Given the description of an element on the screen output the (x, y) to click on. 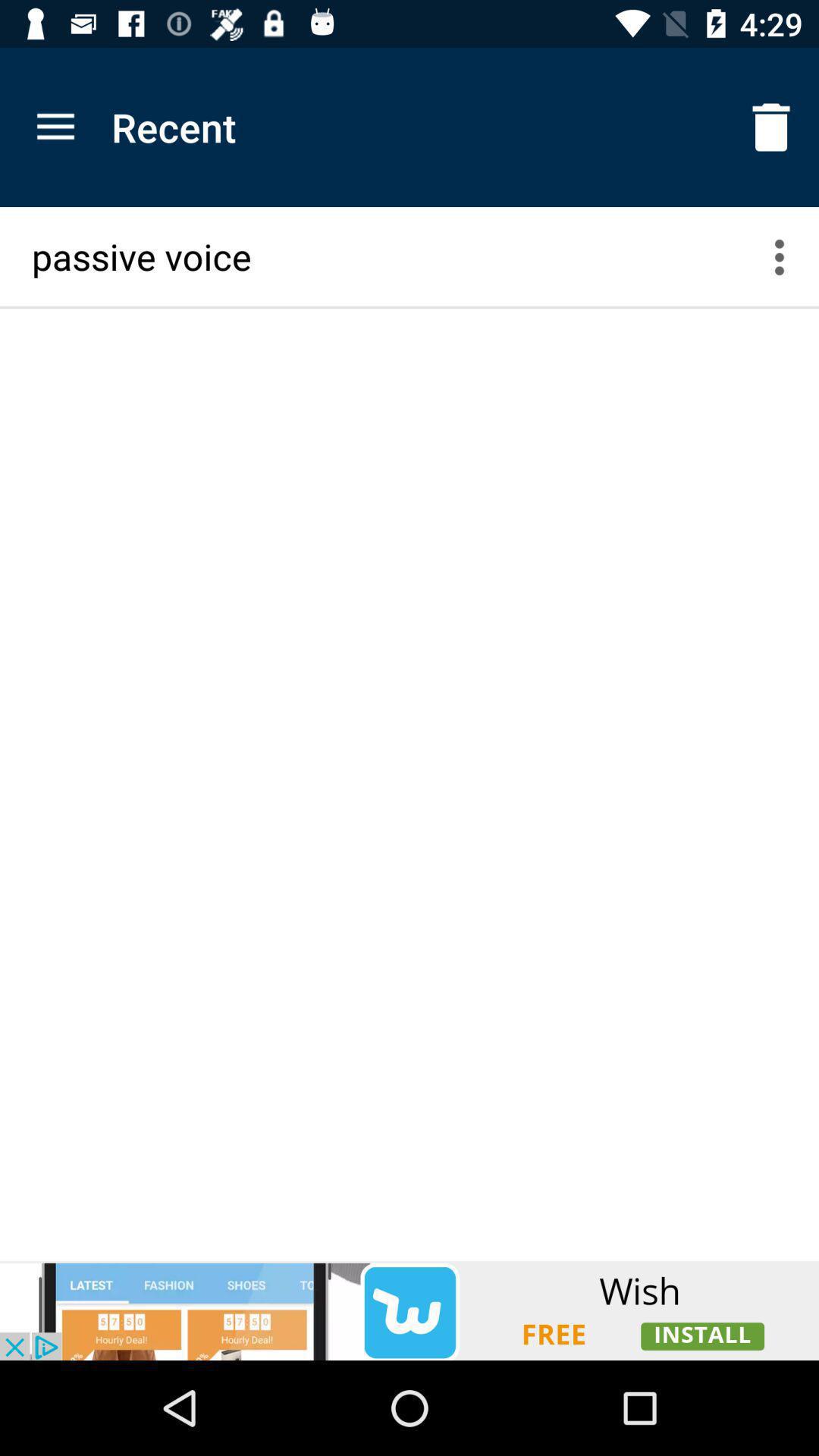
open the settings for item (789, 256)
